Given the description of an element on the screen output the (x, y) to click on. 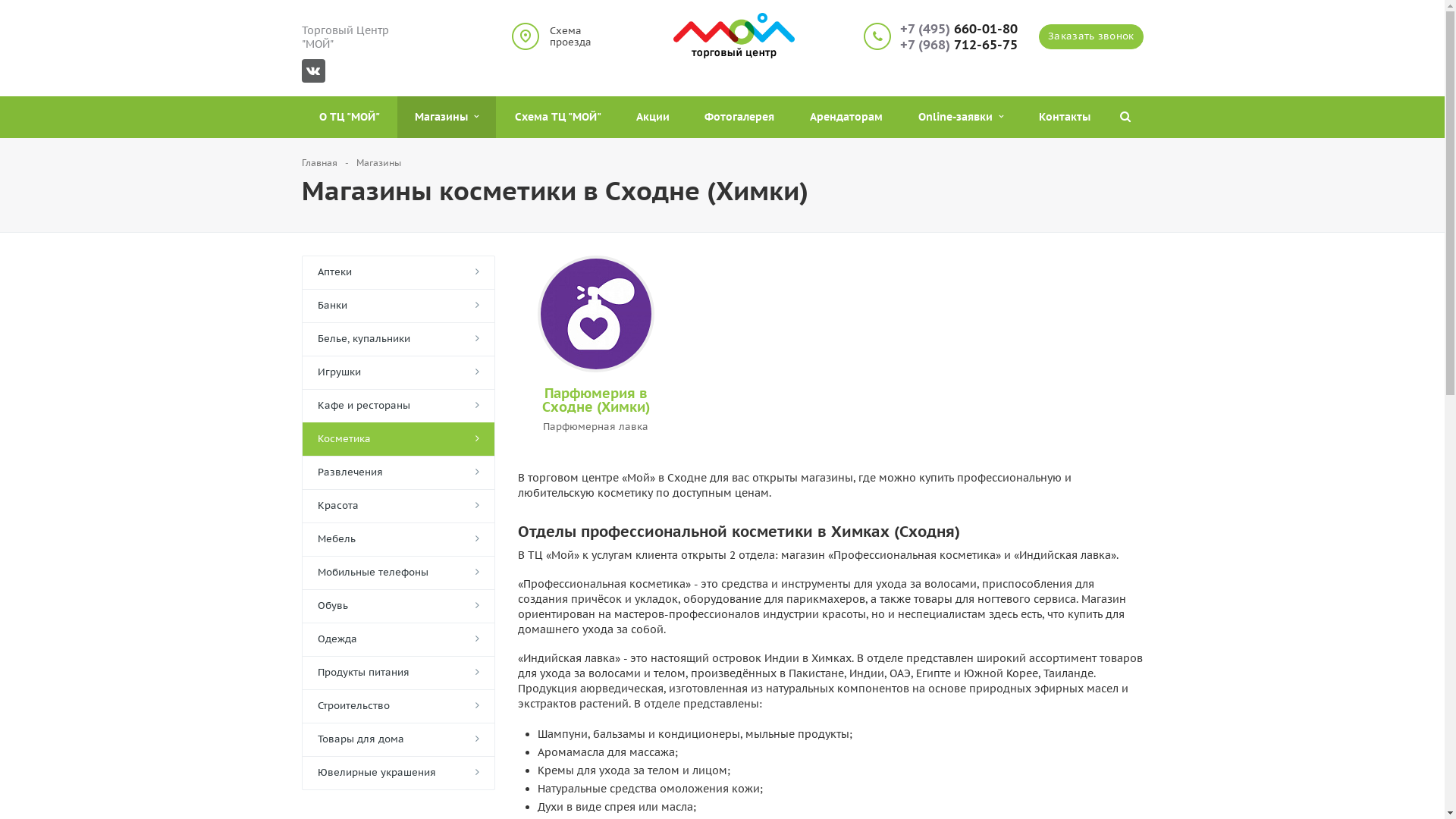
+7 (495) 660-01-80 Element type: text (958, 29)
+7 (968) 712-65-75 Element type: text (958, 45)
